Given the description of an element on the screen output the (x, y) to click on. 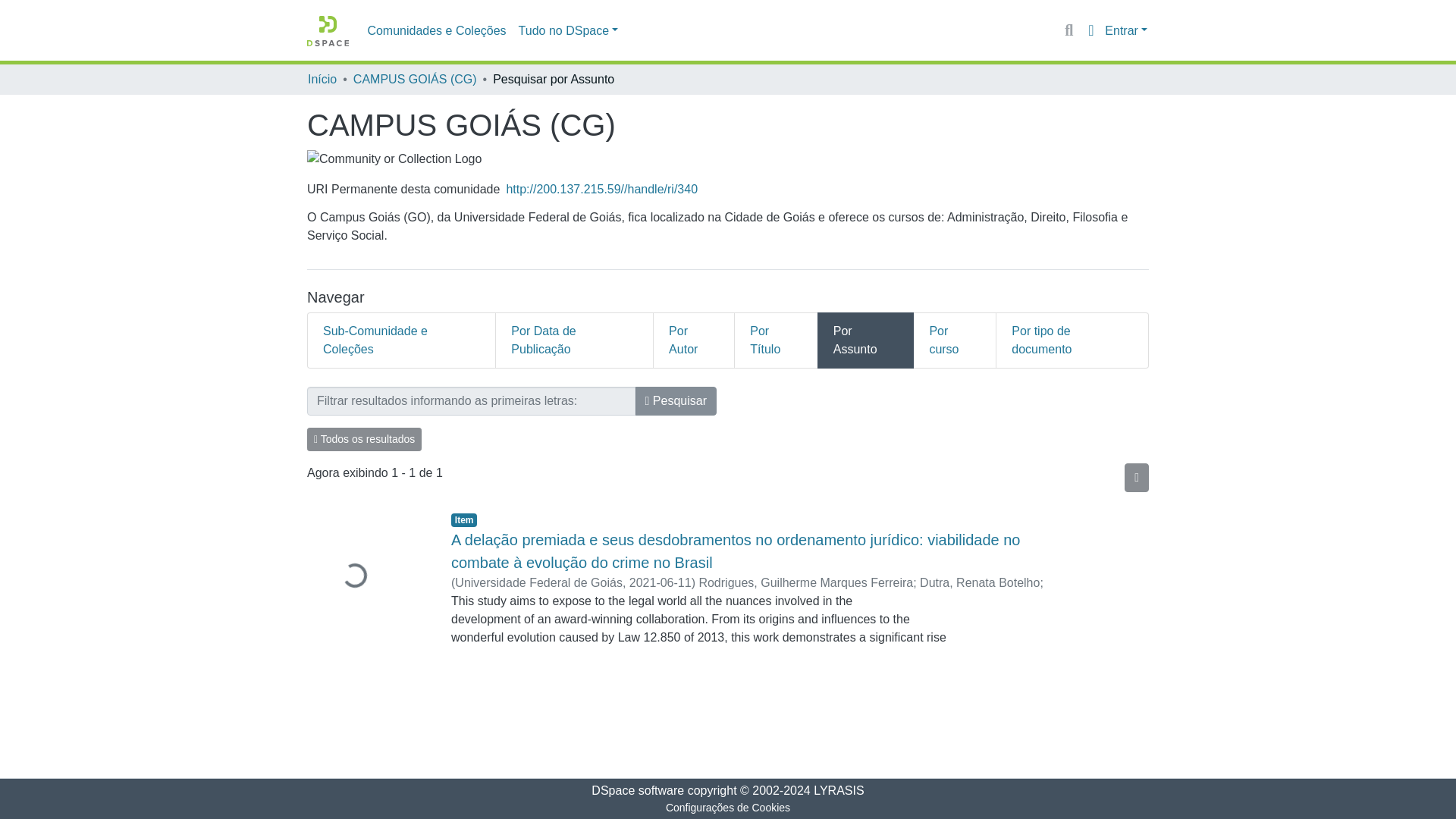
Tudo no DSpace (568, 30)
Entrar (1125, 30)
Pesquisar (675, 400)
Selecionar um idioma (1090, 30)
Por curso (954, 340)
Todos os resultados (364, 439)
Por Autor (694, 340)
Por Assunto (865, 340)
Por tipo de documento (1071, 340)
Buscar (1068, 30)
